Given the description of an element on the screen output the (x, y) to click on. 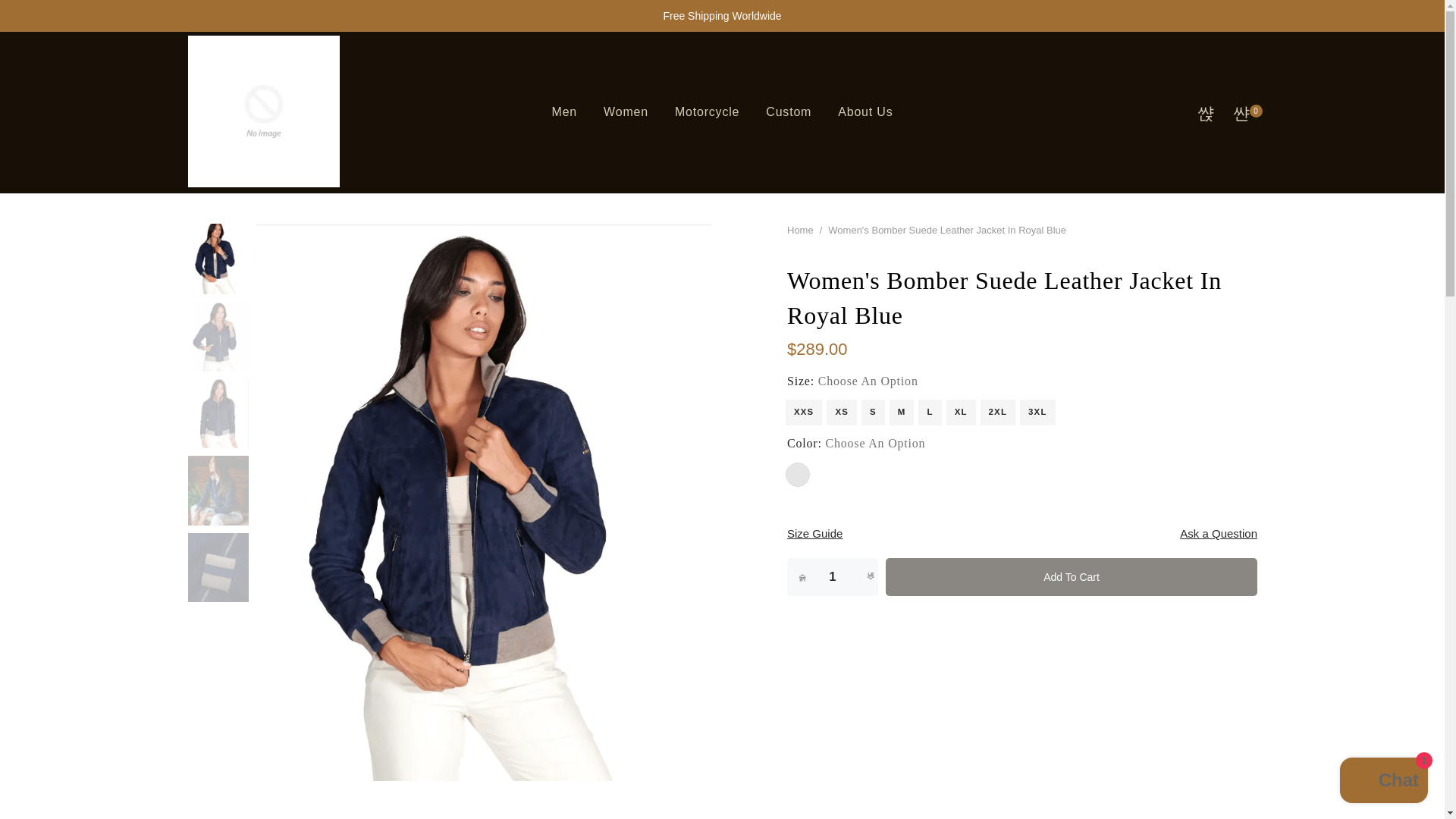
About Us (865, 111)
Women (626, 111)
Men (564, 111)
Add To Cart (1071, 576)
Ask a Question (1218, 533)
Shopify online store chat (1383, 781)
Size Guide (815, 533)
Custom (788, 111)
Motorcycle (706, 111)
Home (800, 229)
